Given the description of an element on the screen output the (x, y) to click on. 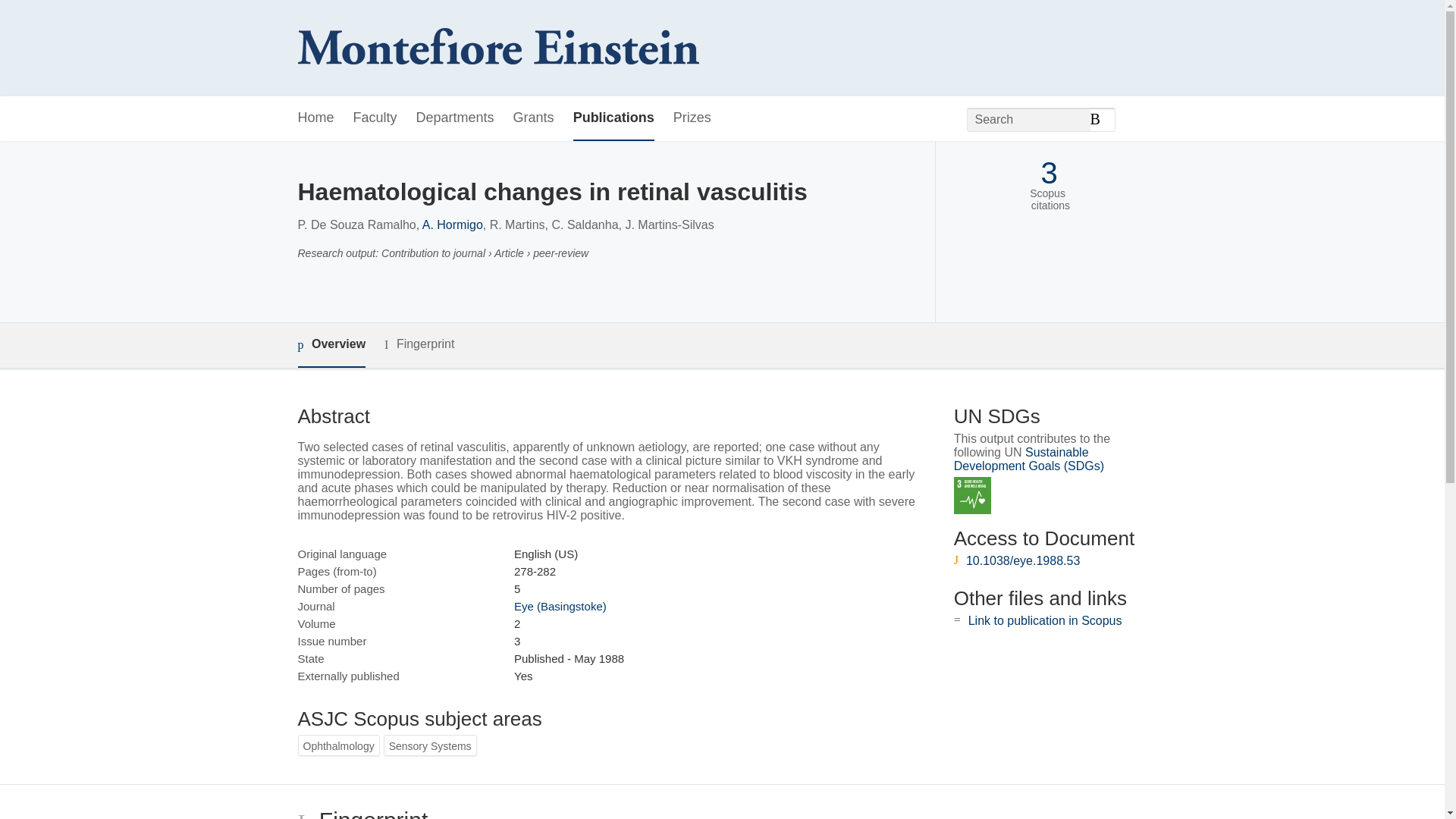
Departments (455, 118)
Fingerprint (419, 344)
SDG 3 - Good Health and Well-being (972, 495)
Faculty (375, 118)
Publications (613, 118)
Grants (533, 118)
Albert Einstein College of Medicine Home (497, 48)
Overview (331, 344)
Link to publication in Scopus (1045, 620)
